Given the description of an element on the screen output the (x, y) to click on. 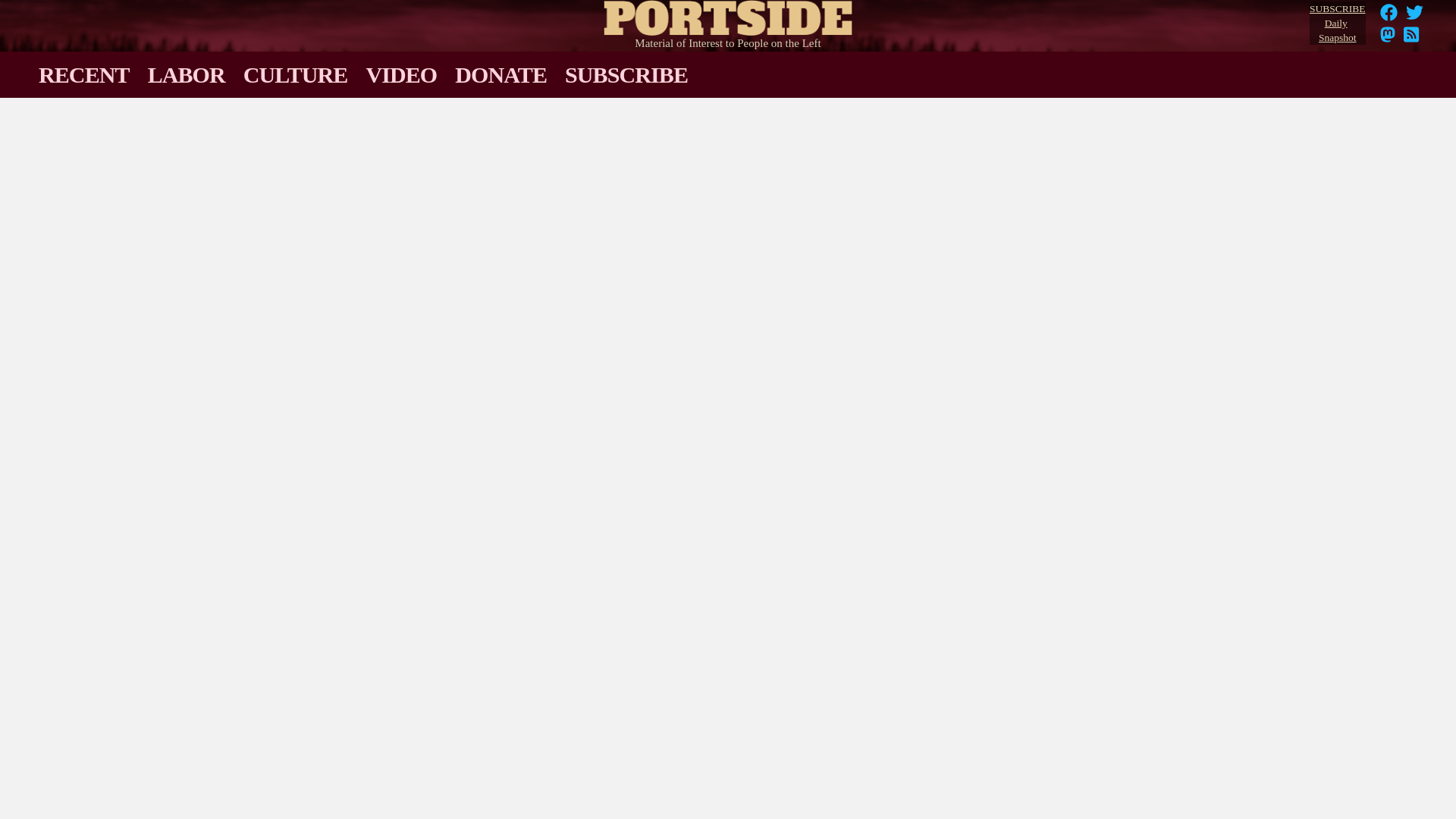
Twitter (1336, 23)
Facebook (1414, 16)
Home (1388, 16)
Facebook (727, 14)
Mastodon (1388, 11)
Follow Portside's RSS feed (1387, 39)
Twitter (1411, 39)
Follow Portside on Mastodon (1414, 11)
Follow Portside on Facebook (1387, 39)
